Given the description of an element on the screen output the (x, y) to click on. 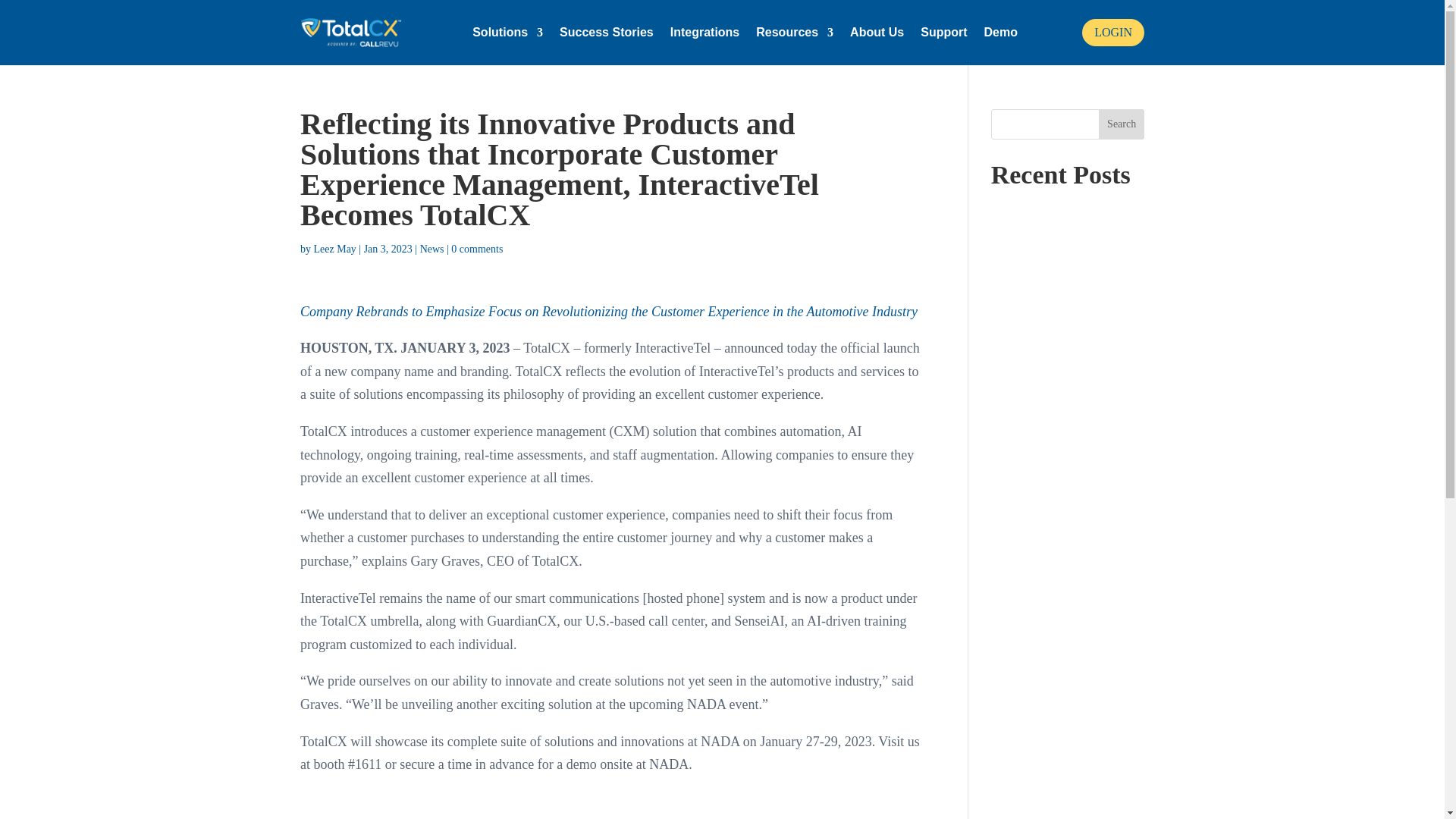
Resources (793, 32)
Leez May (336, 248)
secure a time (434, 764)
News (432, 248)
Integrations (704, 32)
Success Stories (606, 32)
LOGIN (1112, 32)
TotalCX (546, 347)
Solutions (507, 32)
0 comments (476, 248)
